Given the description of an element on the screen output the (x, y) to click on. 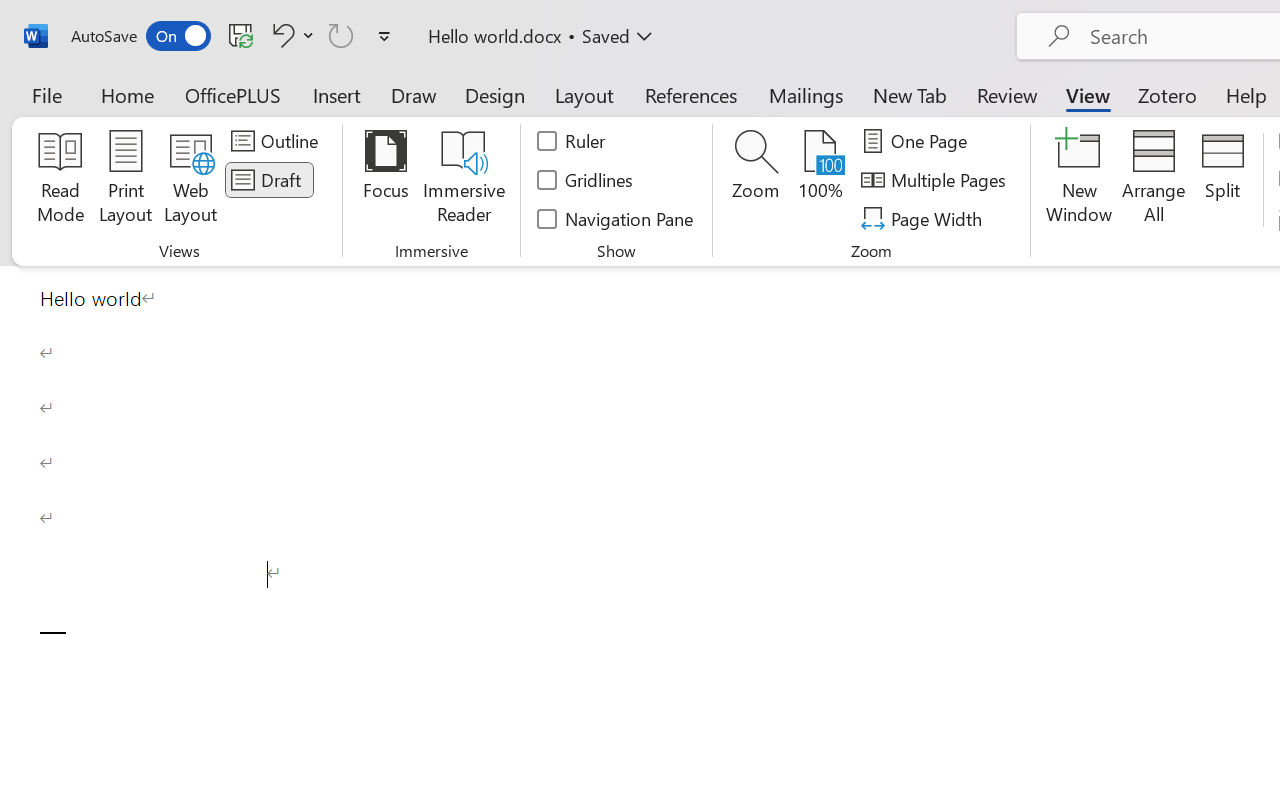
Can't Repeat (341, 35)
Ruler (572, 141)
Arrange All (1153, 179)
Zoom... (755, 179)
Split (1222, 179)
New Tab (909, 94)
Multiple Pages (936, 179)
Focus (385, 179)
Draw (413, 94)
File Tab (46, 94)
Quick Access Toolbar (233, 36)
Home (127, 94)
